Given the description of an element on the screen output the (x, y) to click on. 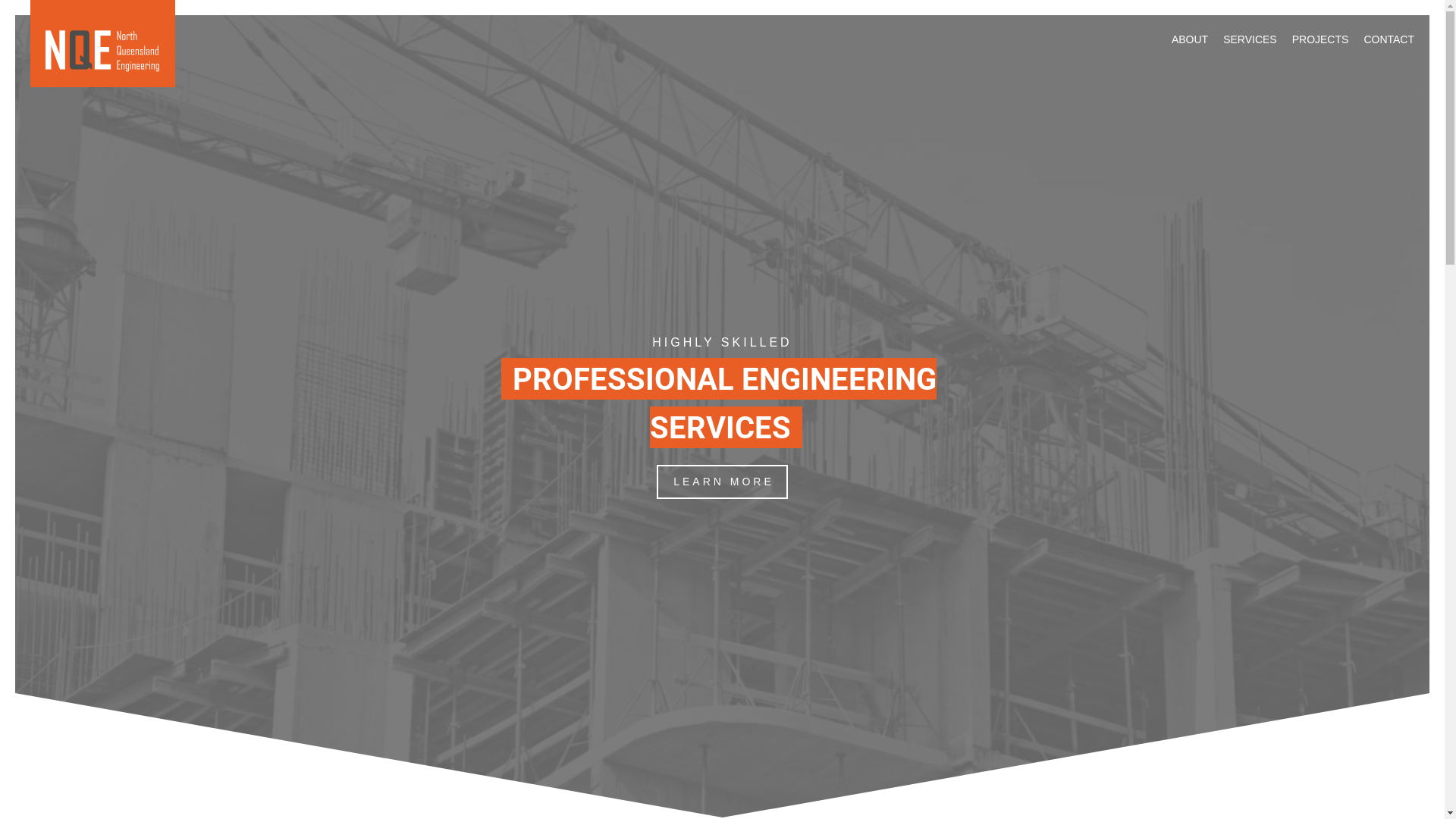
SERVICES Element type: text (1250, 39)
LEARN MORE Element type: text (721, 481)
CONTACT Element type: text (1388, 39)
PROJECTS Element type: text (1320, 39)
ABOUT Element type: text (1189, 39)
